Given the description of an element on the screen output the (x, y) to click on. 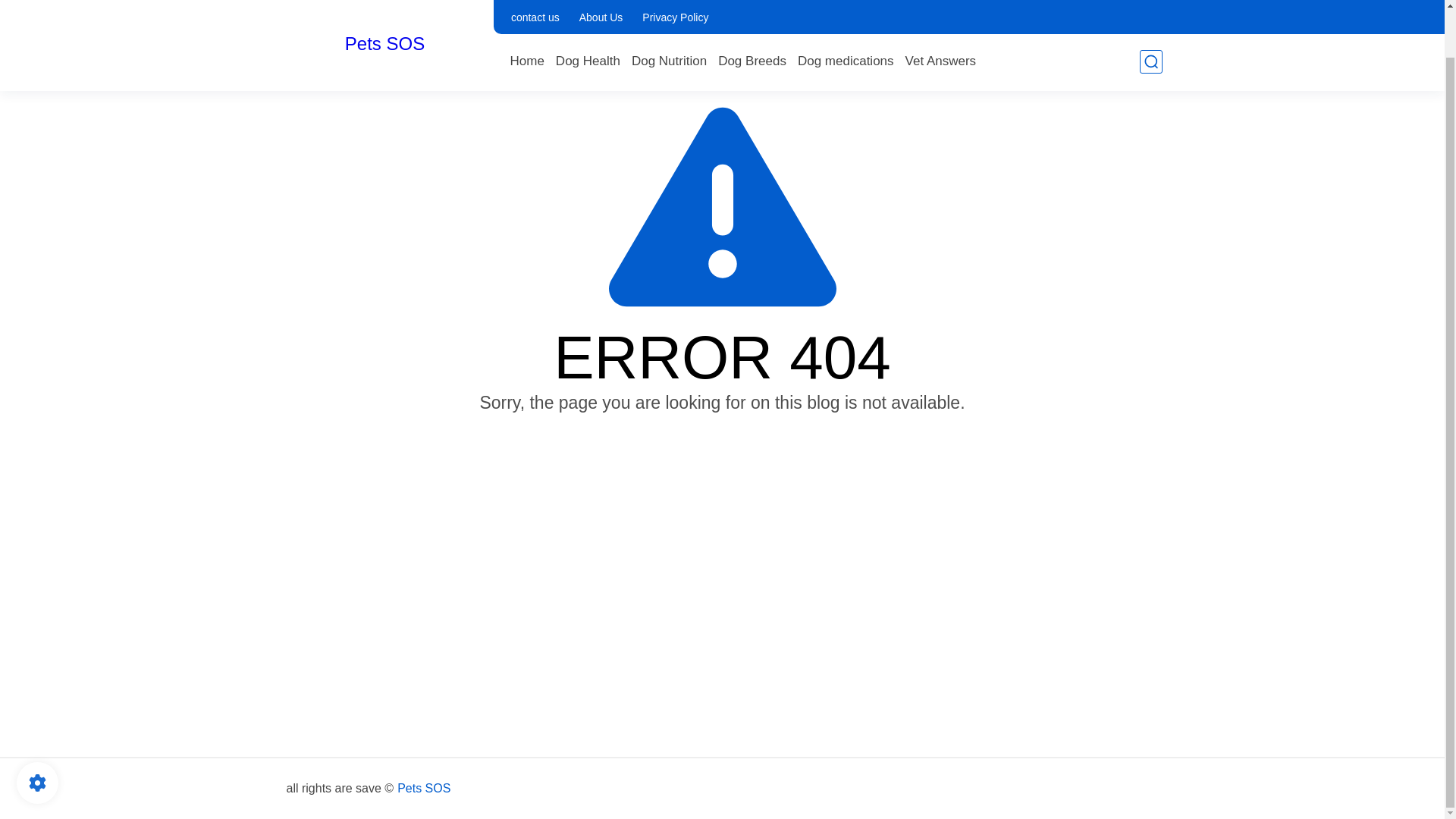
Home (526, 10)
Pets SOS (385, 2)
Dog medications (845, 10)
Dog Breeds (751, 10)
Pets SOS (385, 2)
Dog Health (588, 10)
Dog medications (845, 10)
Vet Answers (940, 10)
Pets SOS (423, 788)
Dog Nutrition (668, 10)
Vet Answers (940, 10)
Dog Health (588, 10)
Dog Breeds (751, 10)
Home (526, 10)
Dog Nutrition (668, 10)
